Given the description of an element on the screen output the (x, y) to click on. 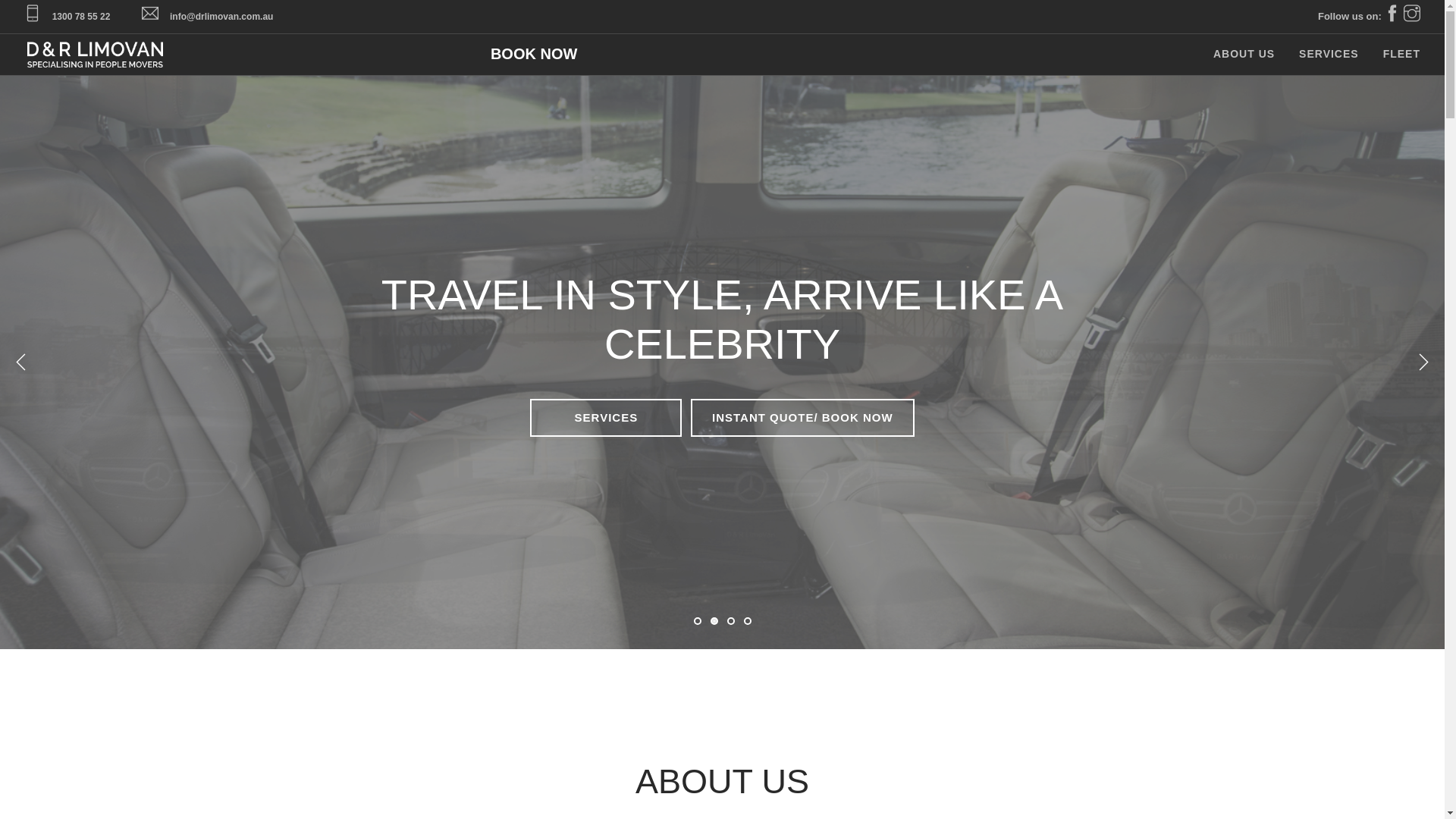
FLEET Element type: text (1401, 54)
Previous Element type: text (21, 362)
3 Element type: text (730, 620)
SERVICES Element type: text (1328, 54)
info@drlimovan.com.au Element type: text (221, 16)
INSTANT QUOTE/ BOOK NOW Element type: text (802, 417)
1300 78 55 22 Element type: text (81, 16)
SERVICES Element type: text (605, 417)
2 Element type: text (713, 620)
1 Element type: text (696, 620)
Follow us on: Element type: text (1360, 15)
4 Element type: text (746, 620)
BOOK NOW Element type: text (533, 54)
ABOUT US Element type: text (1243, 54)
Next Element type: text (1423, 362)
